Given the description of an element on the screen output the (x, y) to click on. 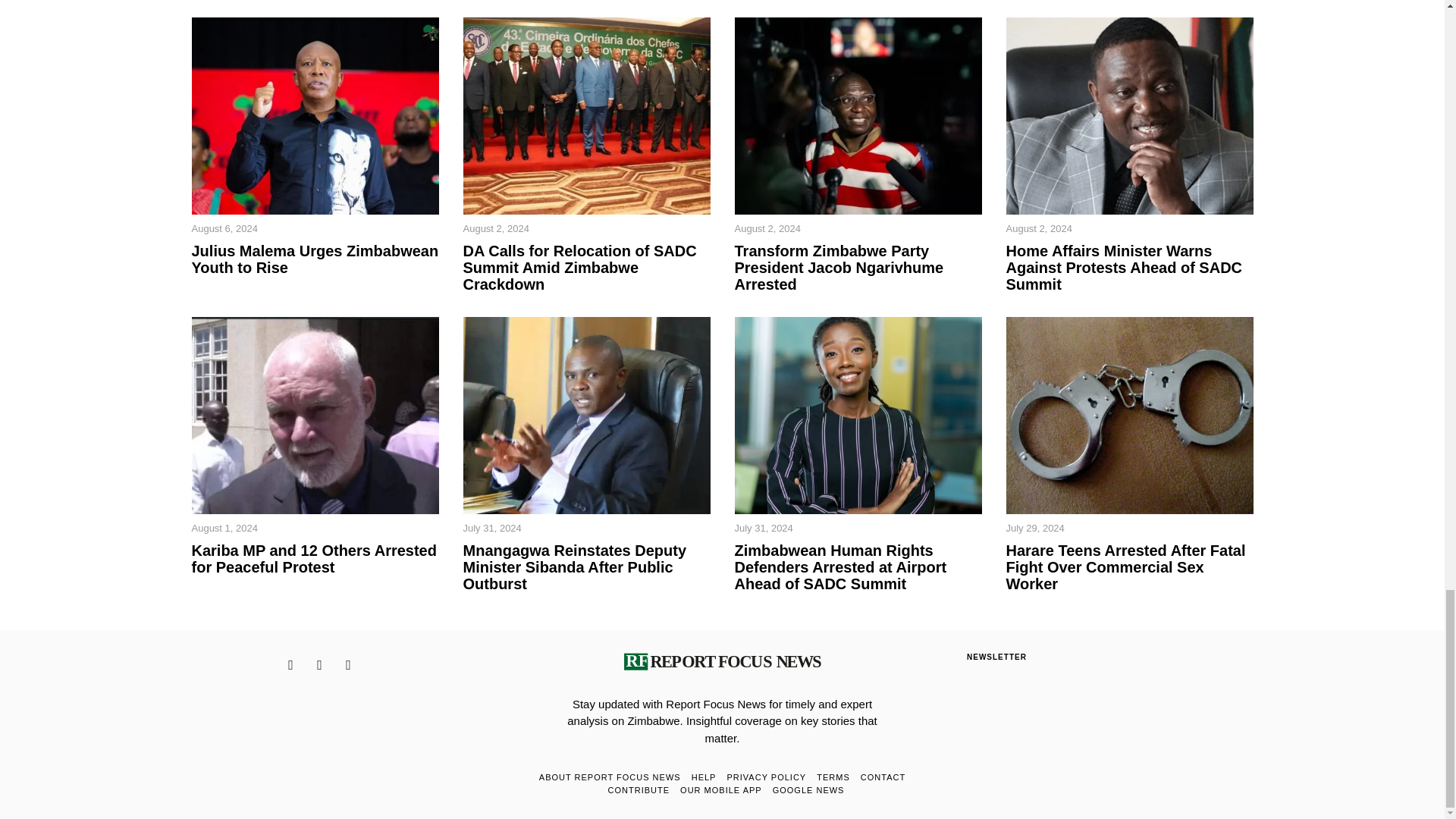
06 Aug, 2024 14:10:02 (223, 228)
02 Aug, 2024 20:57:19 (495, 228)
02 Aug, 2024 17:06:24 (766, 228)
Julius Malema Urges Zimbabwean Youth to Rise (314, 259)
